Given the description of an element on the screen output the (x, y) to click on. 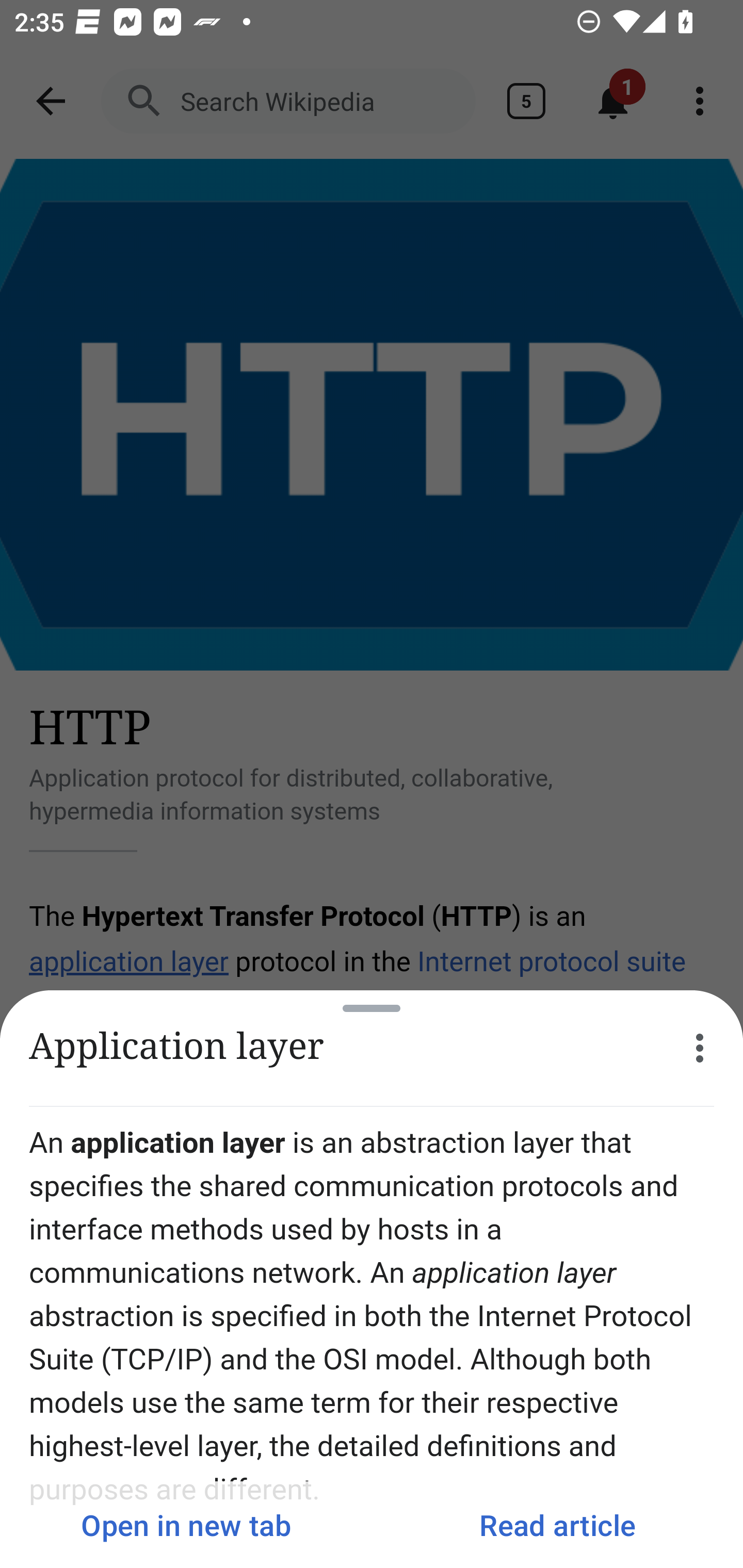
Application layer More options (371, 1047)
More options (699, 1048)
Open in new tab (185, 1524)
Read article (557, 1524)
